Given the description of an element on the screen output the (x, y) to click on. 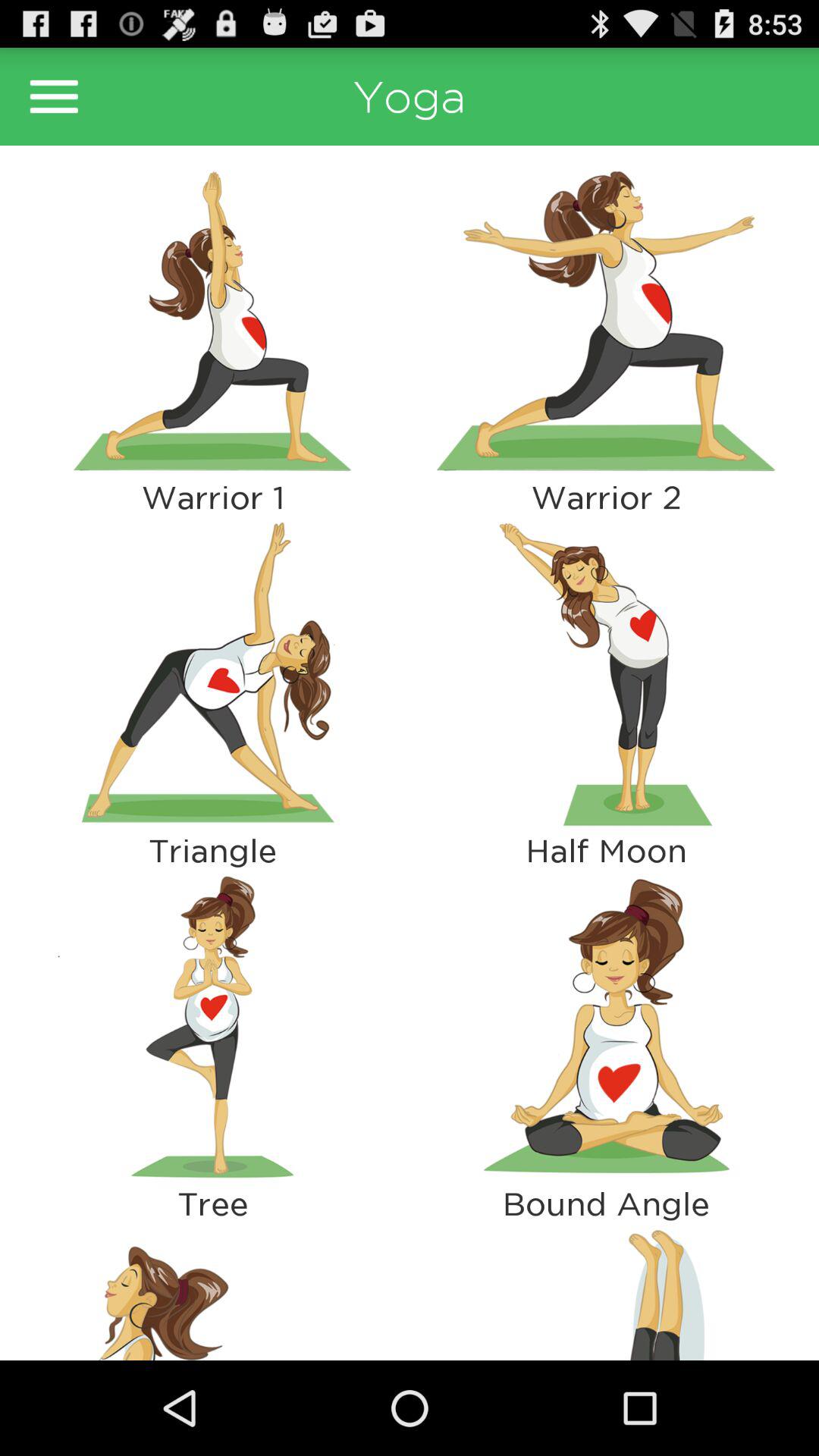
open the app to the left of the bound angle (212, 1290)
